Given the description of an element on the screen output the (x, y) to click on. 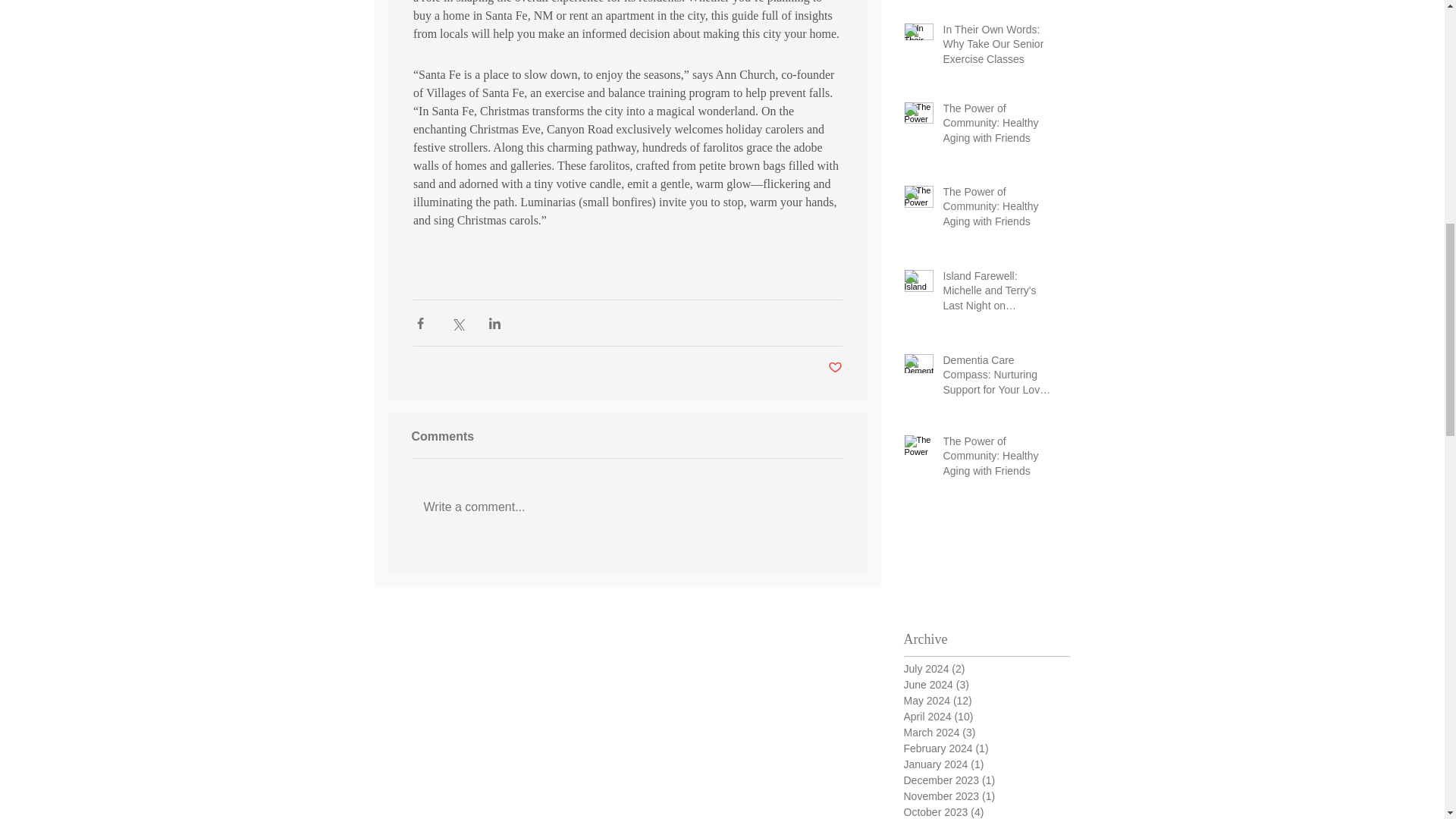
In Their Own Words: Why Take Our Senior Exercise Classes (997, 47)
Island Farewell: Michelle and Terry's Last Night on Ocracoke (997, 294)
The Power of Community: Healthy Aging with Friends (997, 210)
Post not marked as liked (835, 367)
apartment in the city (654, 16)
home in Santa Fe, NM (497, 16)
The Power of Community: Healthy Aging with Friends (997, 459)
Write a comment... (626, 507)
Villages of Santa Fe (475, 93)
The Power of Community: Healthy Aging with Friends (997, 126)
